Given the description of an element on the screen output the (x, y) to click on. 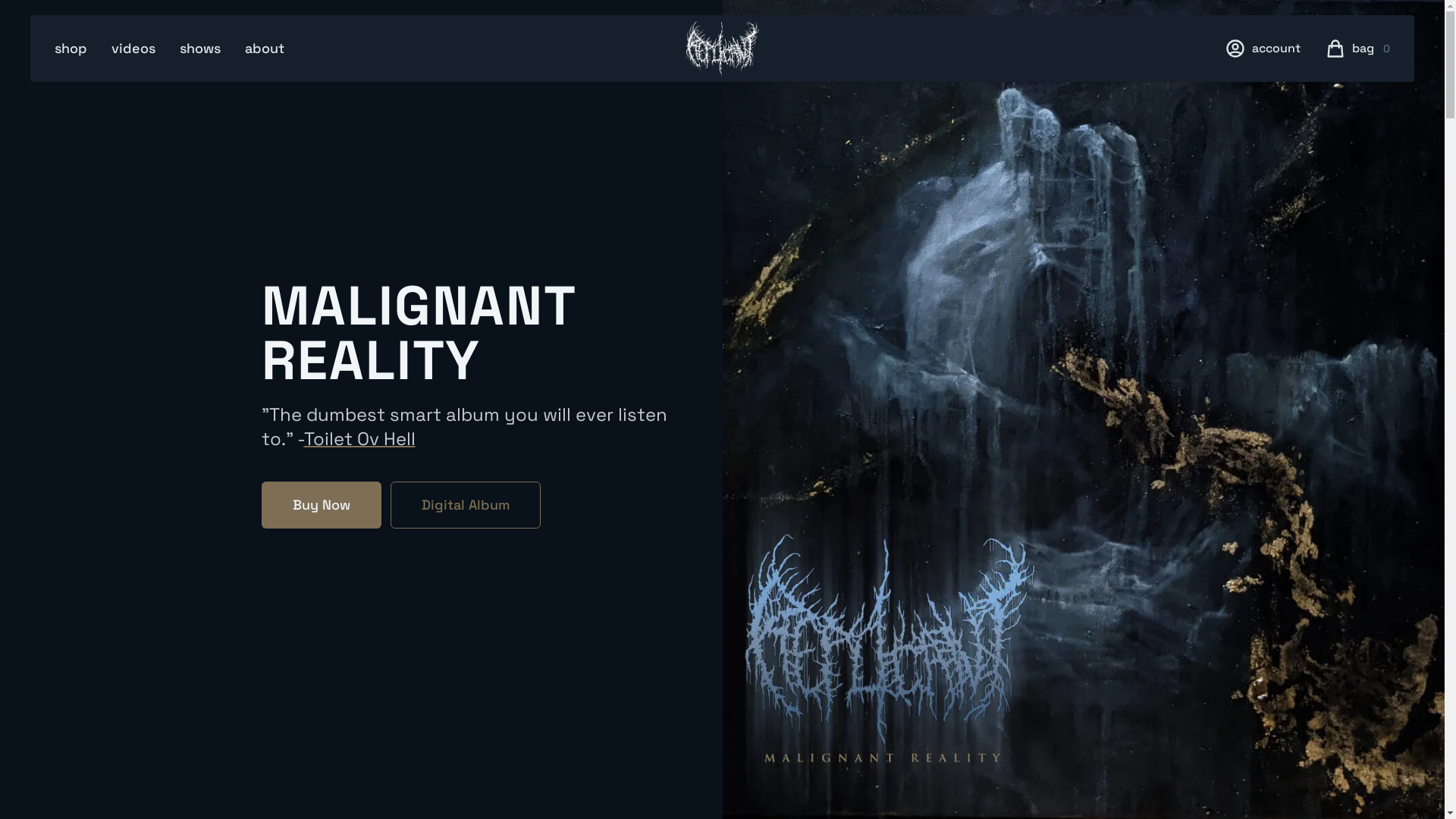
shows Element type: text (199, 48)
about Element type: text (264, 48)
Replicant - New Jersey Death Metal Element type: text (721, 48)
Digital Album Element type: text (464, 504)
shop Element type: text (70, 48)
Buy Now Element type: text (320, 504)
account Element type: text (1276, 48)
Toilet Ov Hell Element type: text (358, 438)
bag 0 Element type: text (1371, 48)
videos Element type: text (133, 48)
